Given the description of an element on the screen output the (x, y) to click on. 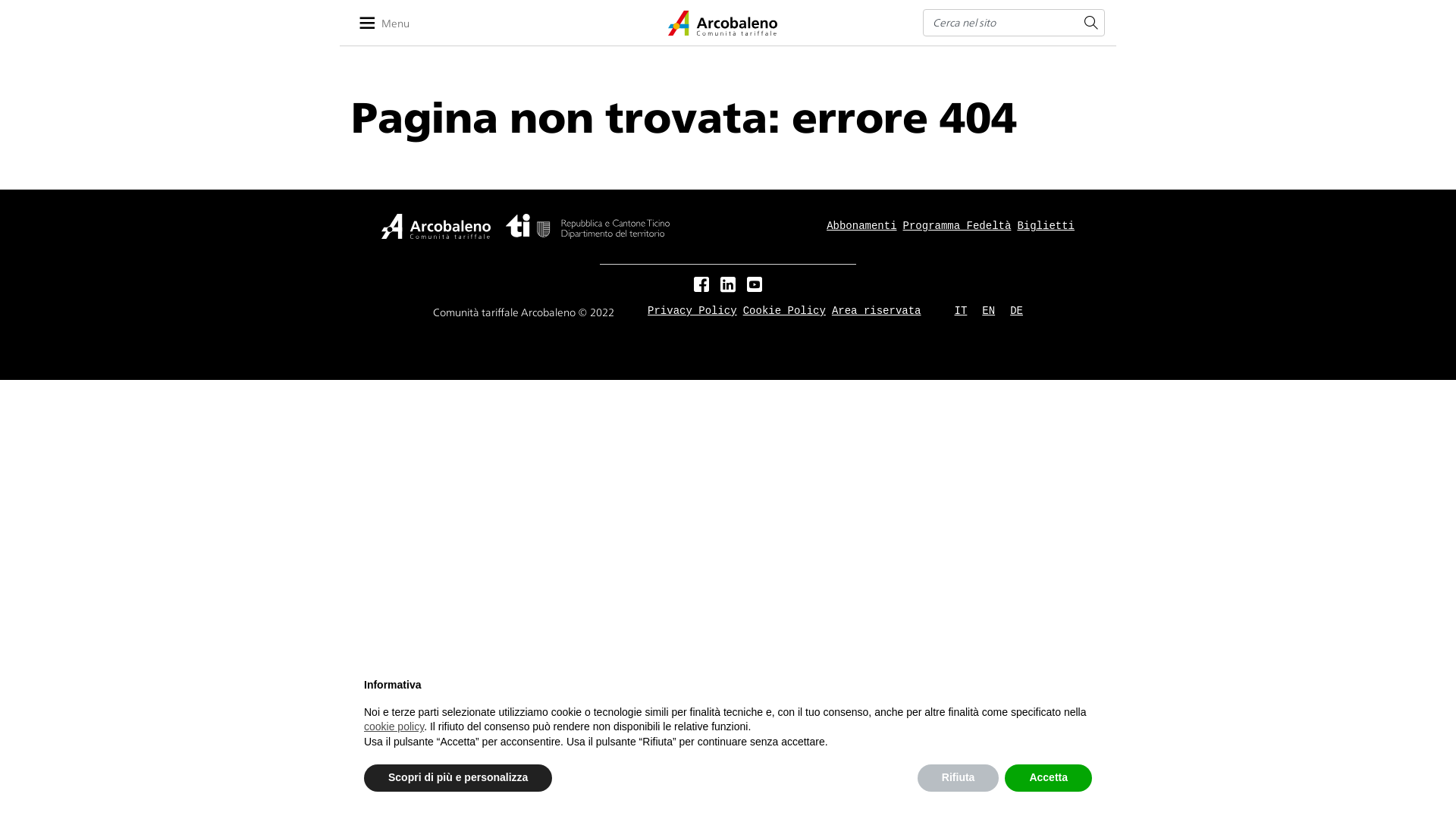
cookie policy Element type: text (393, 726)
Cookie Policy Element type: text (784, 310)
Home Element type: hover (722, 22)
Rifiuta Element type: text (958, 777)
Menu Element type: text (390, 23)
Area riservata Element type: text (876, 310)
Biglietti Element type: text (1045, 225)
https://www.facebook.com/arcobaleno.lasceltagiusta Element type: hover (701, 285)
Abbonamenti Element type: text (861, 225)
Accetta Element type: text (1048, 777)
Privacy Policy Element type: text (692, 310)
IT Element type: text (960, 310)
EN Element type: text (988, 310)
https://www.youtube.com/channel/UCzeL-7s-7rxBC6tIaOvgjRA Element type: hover (754, 285)
DE Element type: text (1016, 310)
